Given the description of an element on the screen output the (x, y) to click on. 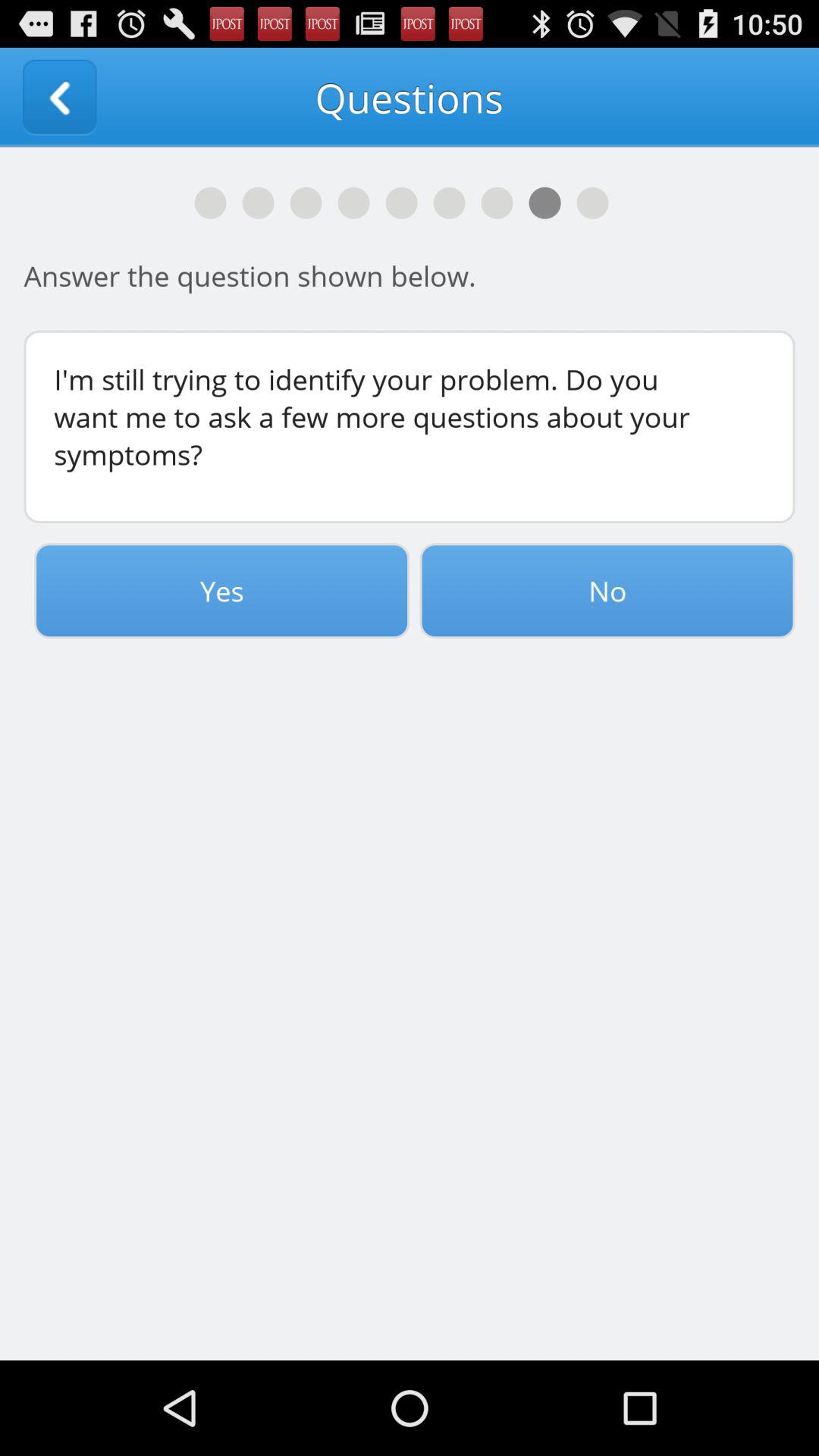
choose item to the left of the questions app (59, 97)
